Given the description of an element on the screen output the (x, y) to click on. 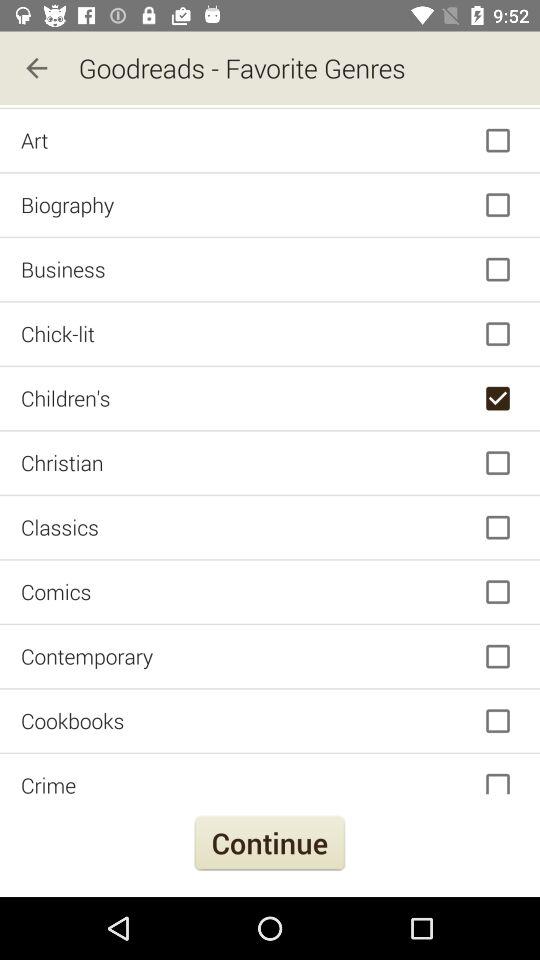
launch item above the contemporary (270, 591)
